Given the description of an element on the screen output the (x, y) to click on. 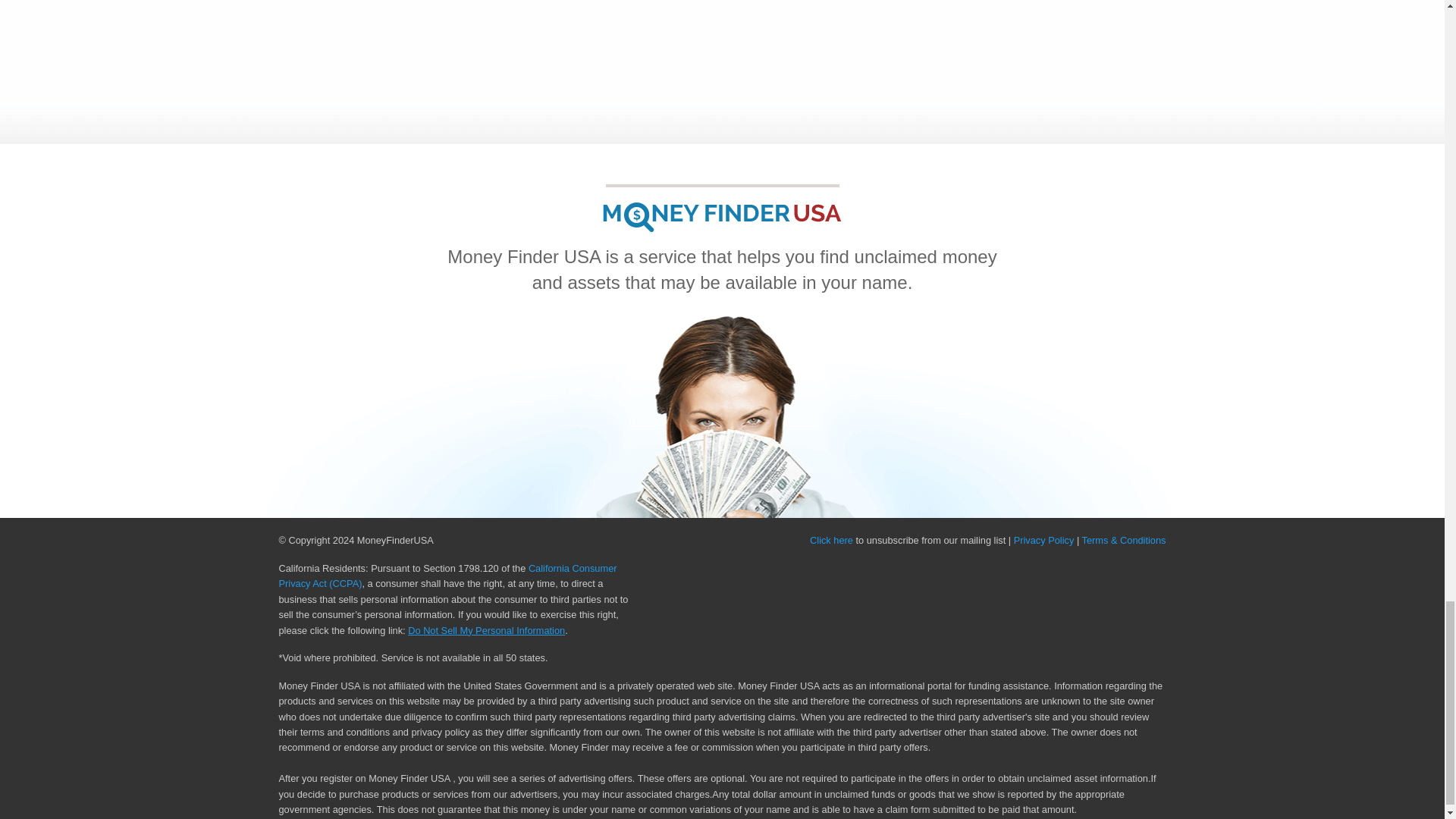
Do Not Sell My Personal Information (485, 630)
Click here (831, 540)
Privacy Policy (1043, 540)
